Given the description of an element on the screen output the (x, y) to click on. 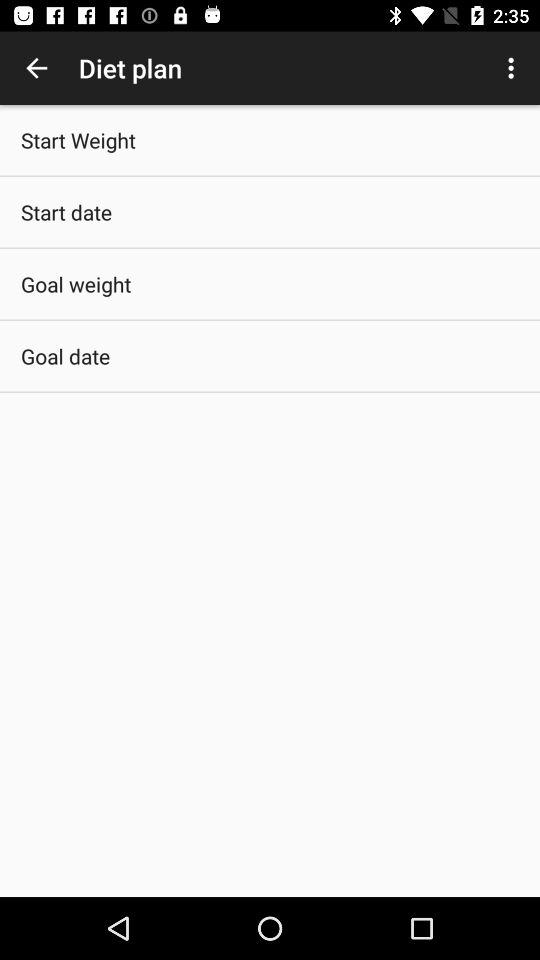
select goal date icon (65, 355)
